Given the description of an element on the screen output the (x, y) to click on. 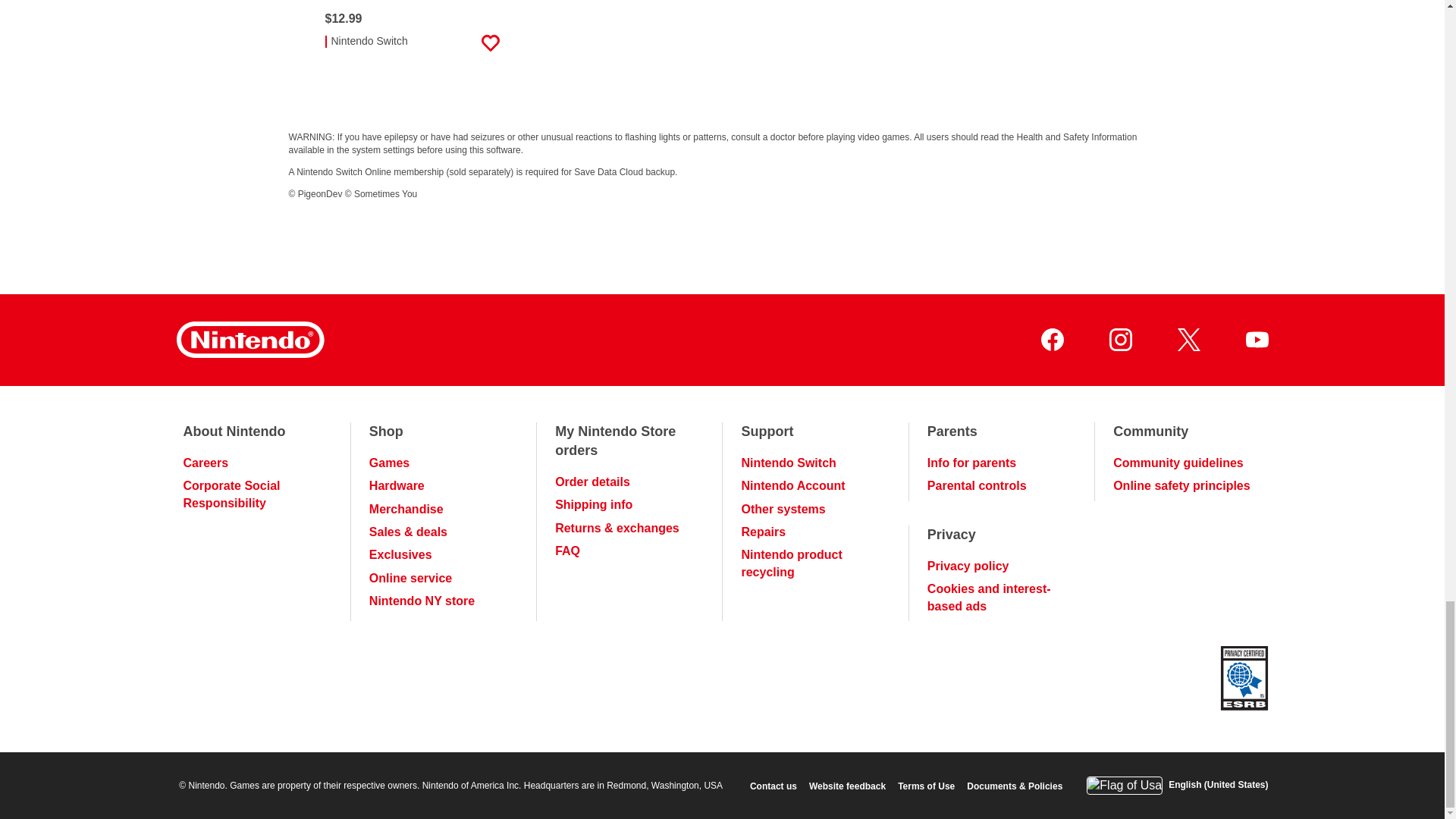
Nintendo on YouTube (1256, 339)
Nintendo on Facebook (1051, 339)
Nintendo on Instagram (1119, 339)
Nintendo Homepage (249, 339)
Nintendo on Twitter (1187, 339)
Add to Wish List (489, 43)
